Given the description of an element on the screen output the (x, y) to click on. 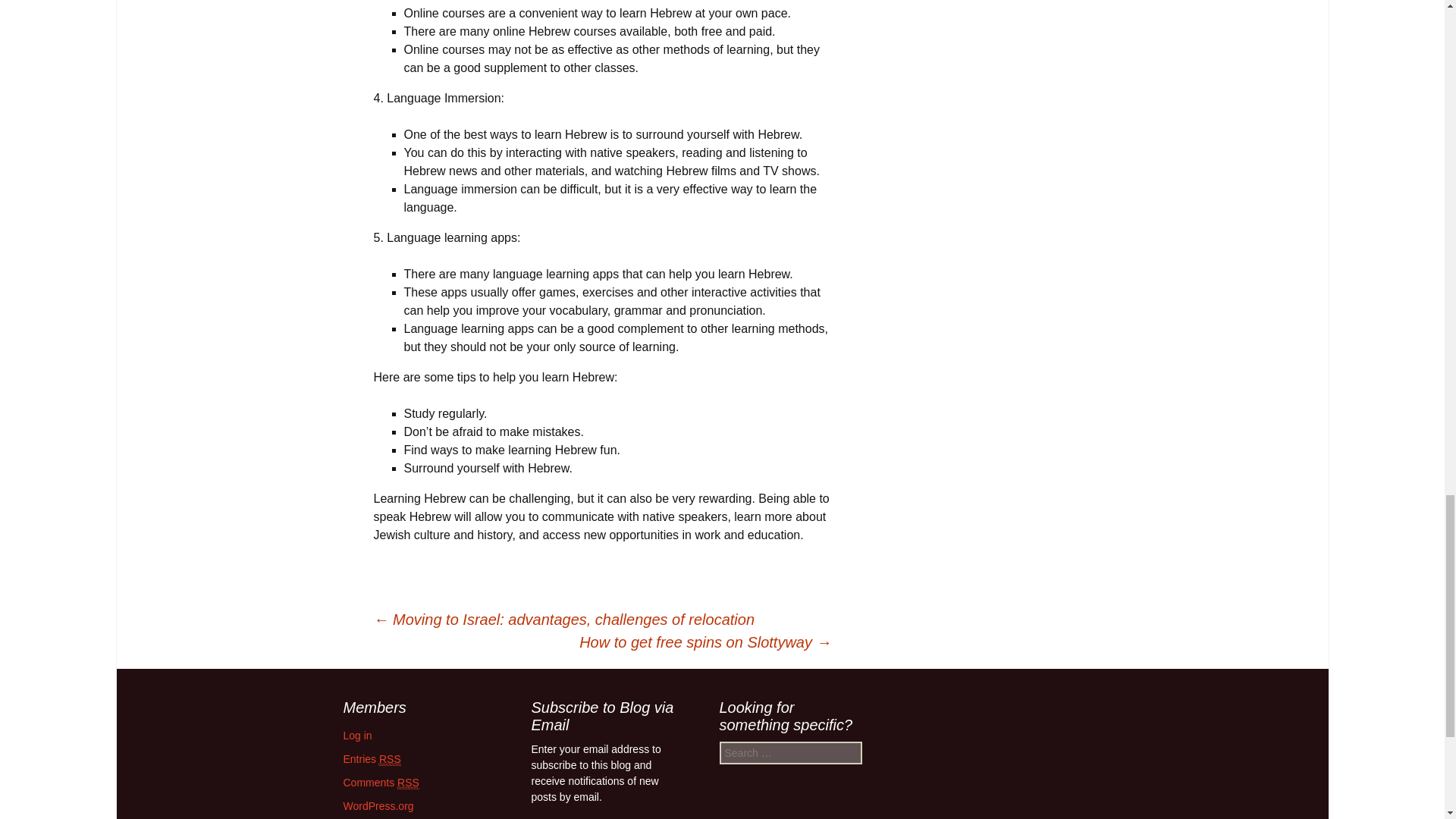
Really Simple Syndication (389, 758)
Really Simple Syndication (408, 782)
